Given the description of an element on the screen output the (x, y) to click on. 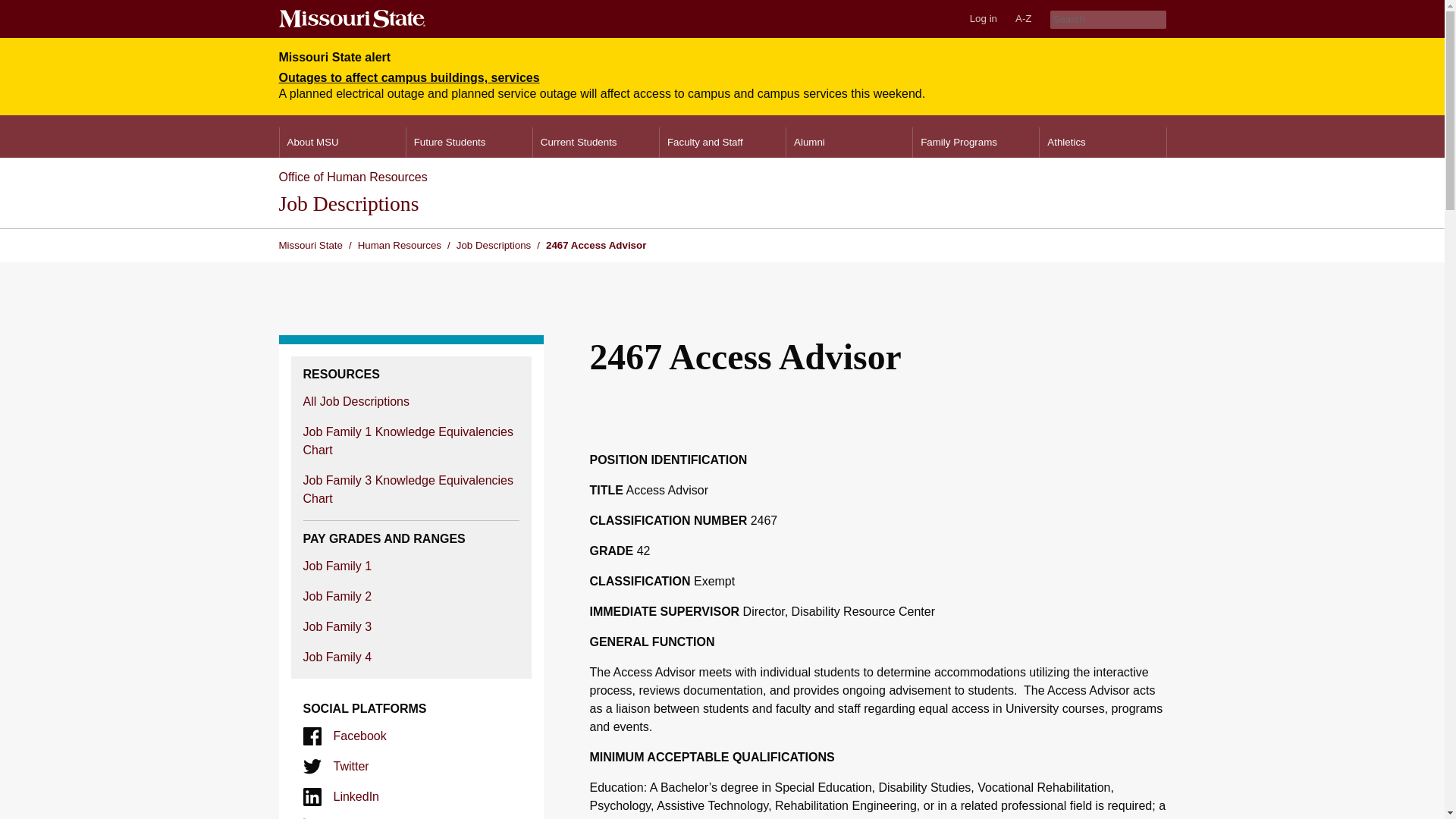
Outages to affect campus buildings, services (409, 77)
Log in (983, 18)
Future Students (469, 142)
About MSU (341, 142)
A-Z (1023, 18)
